Given the description of an element on the screen output the (x, y) to click on. 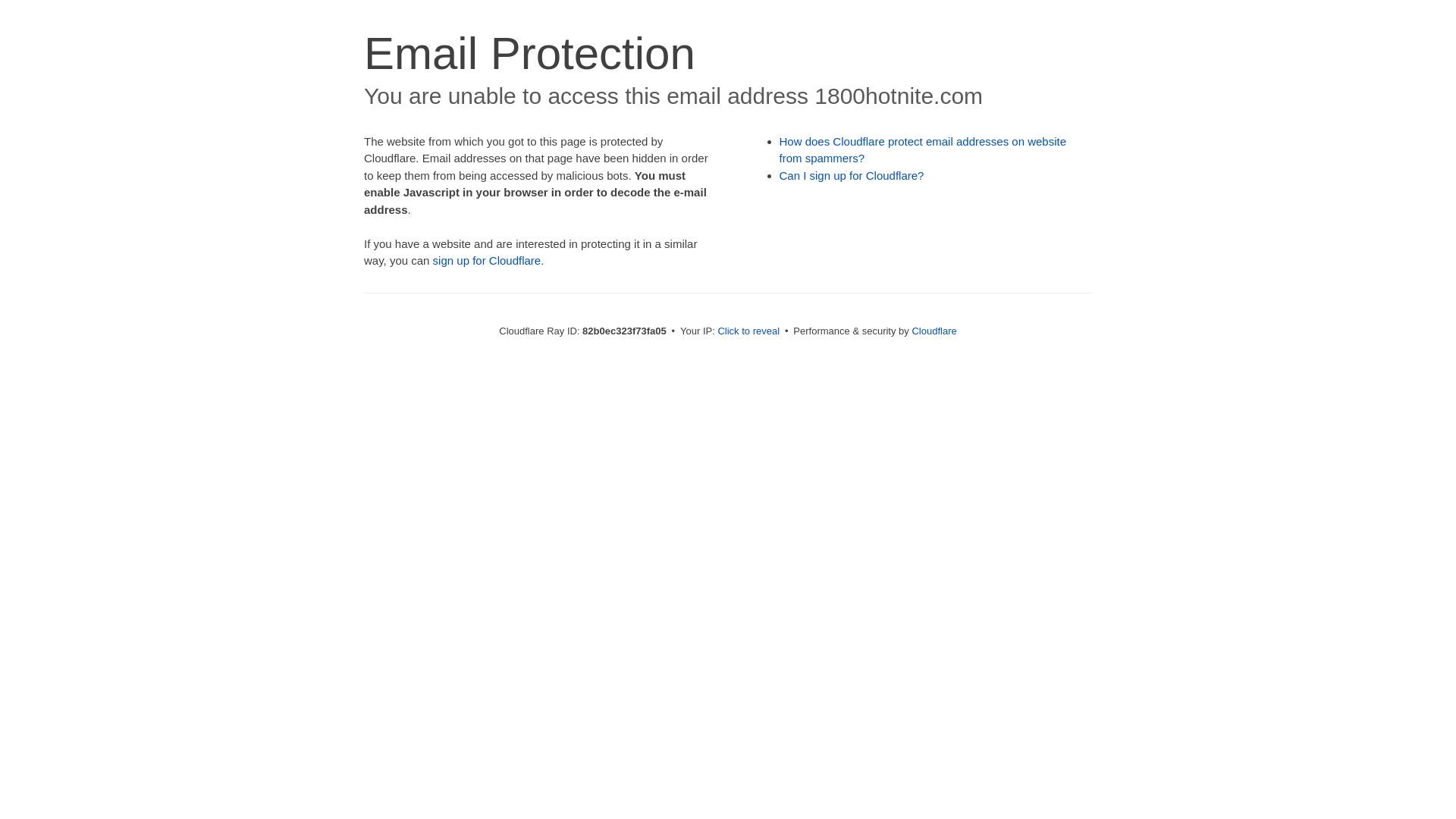
Click to reveal Element type: text (748, 330)
sign up for Cloudflare Element type: text (487, 260)
Cloudflare Element type: text (933, 330)
Can I sign up for Cloudflare? Element type: text (851, 175)
